Given the description of an element on the screen output the (x, y) to click on. 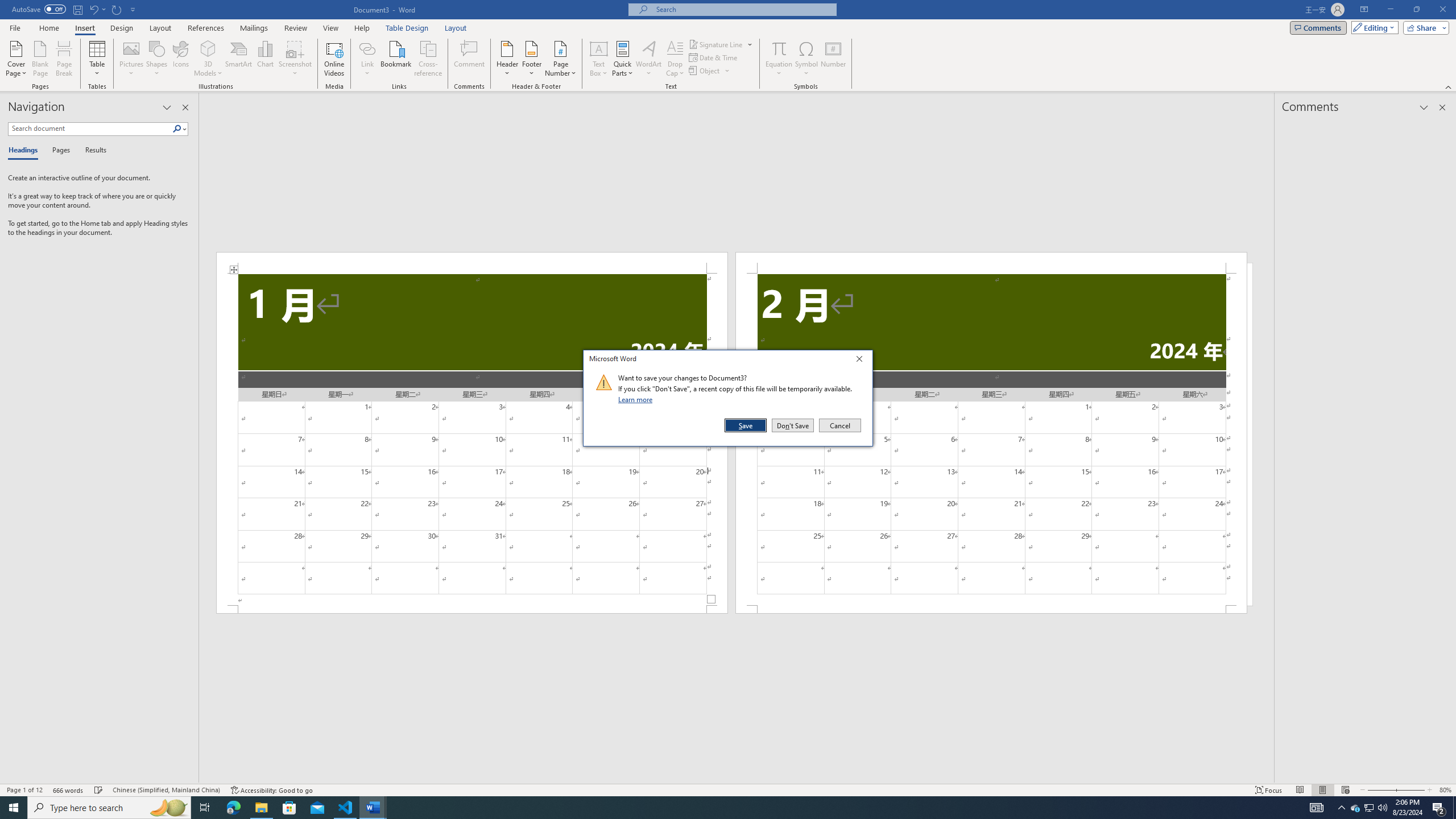
Don't Save (792, 425)
Undo Increase Indent (96, 9)
Pictures (131, 58)
Link (367, 58)
Notification Chevron (1341, 807)
Search (177, 128)
Zoom In (1408, 790)
References (205, 28)
Minimize (1390, 9)
Screenshot (295, 58)
Repeat Doc Close (117, 9)
Date & Time... (714, 56)
View (330, 28)
Footer -Section 1- (471, 609)
